Given the description of an element on the screen output the (x, y) to click on. 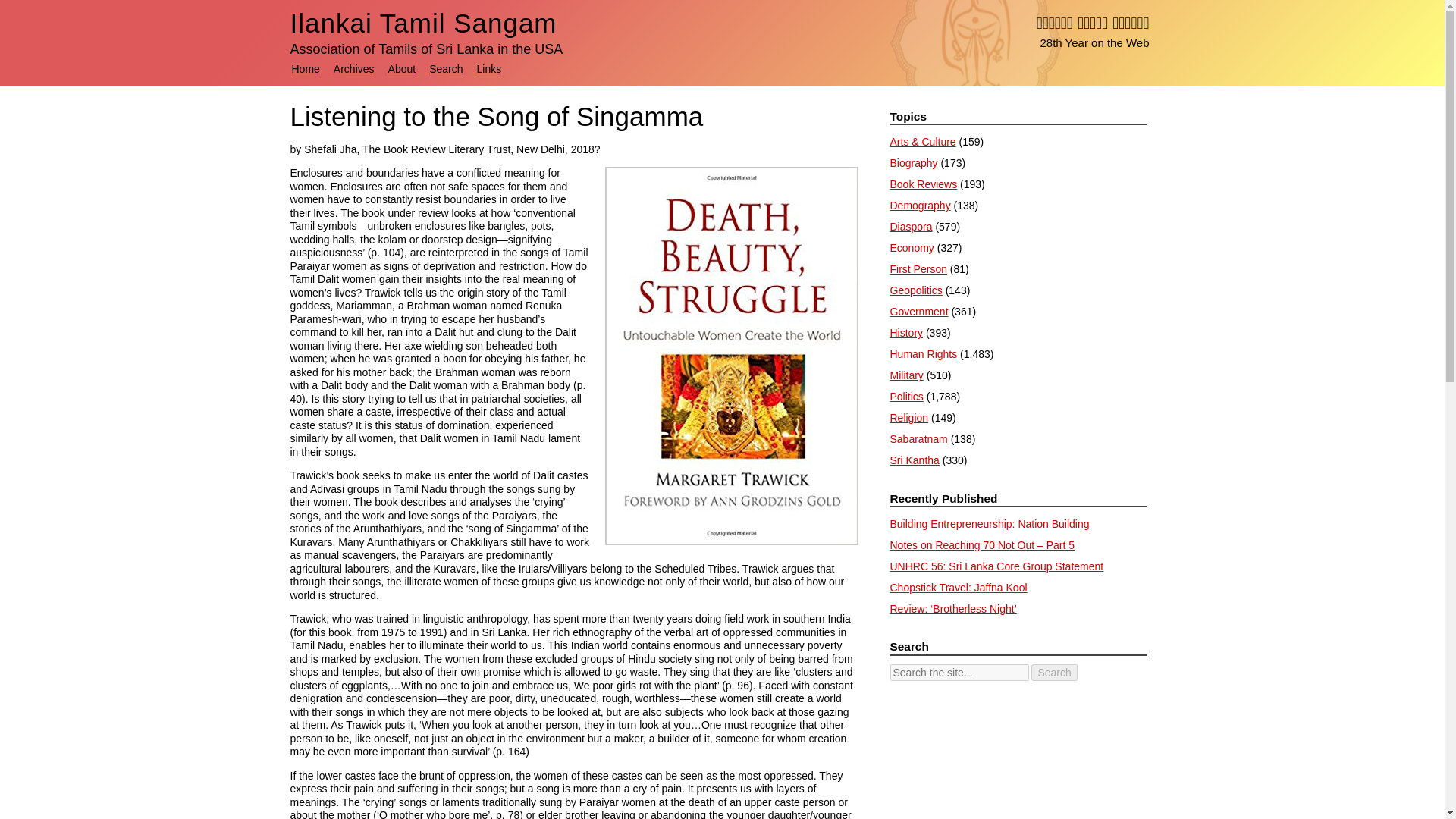
Chopstick Travel: Jaffna Kool (958, 587)
View all posts filed under Politics (906, 396)
Government (919, 311)
Diaspora (911, 226)
Military (906, 375)
History (906, 332)
Archives (353, 68)
View all posts filed under Government (919, 311)
View all posts filed under Sabaratnam (918, 439)
View all posts filed under Religion (908, 417)
Human Rights (923, 354)
View all posts filed under Economy (911, 247)
First Person (918, 268)
View all posts filed under Demography (919, 205)
View all posts filed under Geopolitics (915, 290)
